Given the description of an element on the screen output the (x, y) to click on. 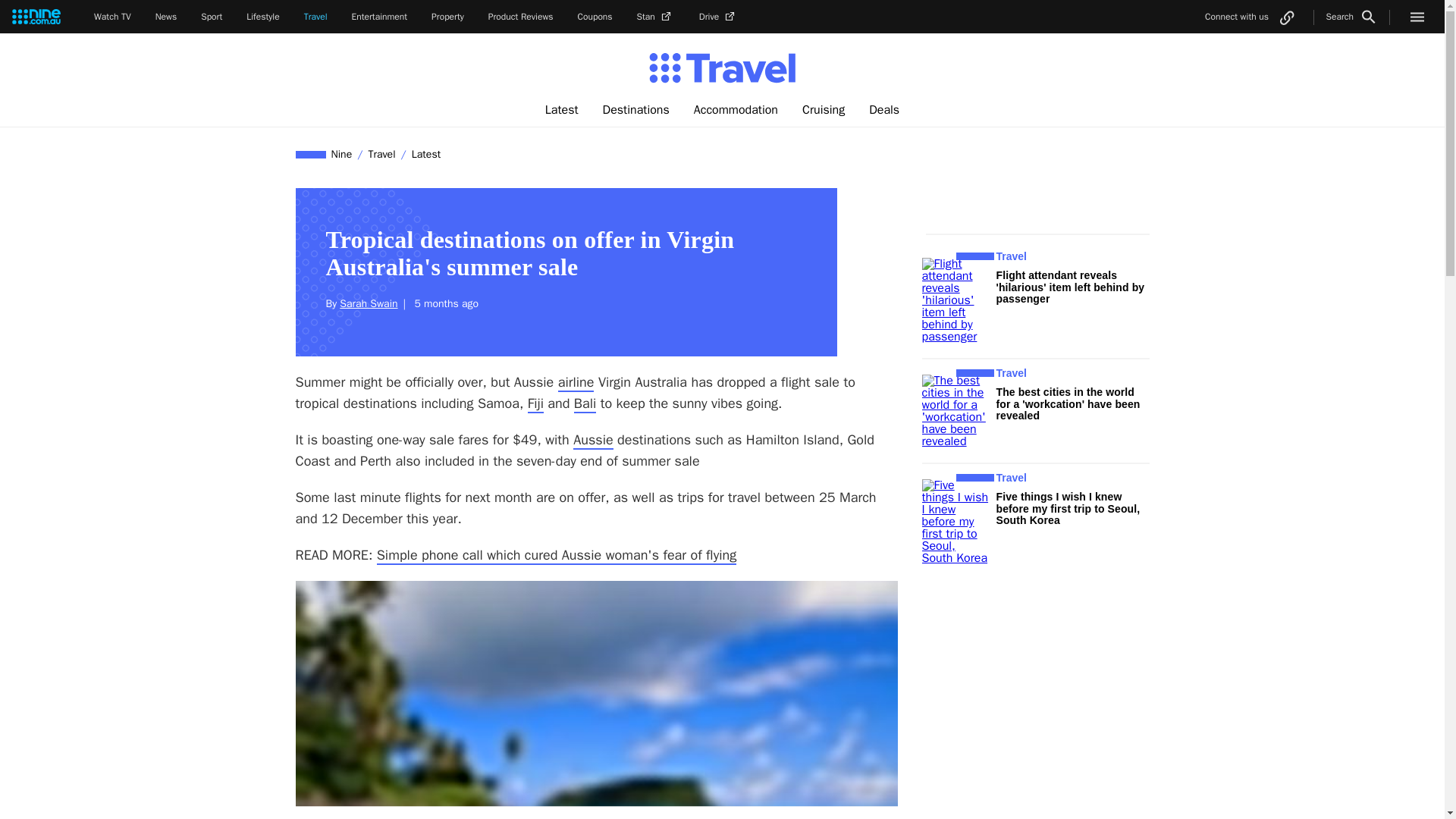
Latest (425, 154)
2024-03-10 23:47 (444, 303)
Simple phone call which cured Aussie woman's fear of flying (556, 556)
Aussie (592, 440)
Bali  (584, 403)
airline  (575, 382)
Product Reviews (520, 16)
Property (447, 16)
Entertainment (379, 16)
Aussie  (592, 440)
